Given the description of an element on the screen output the (x, y) to click on. 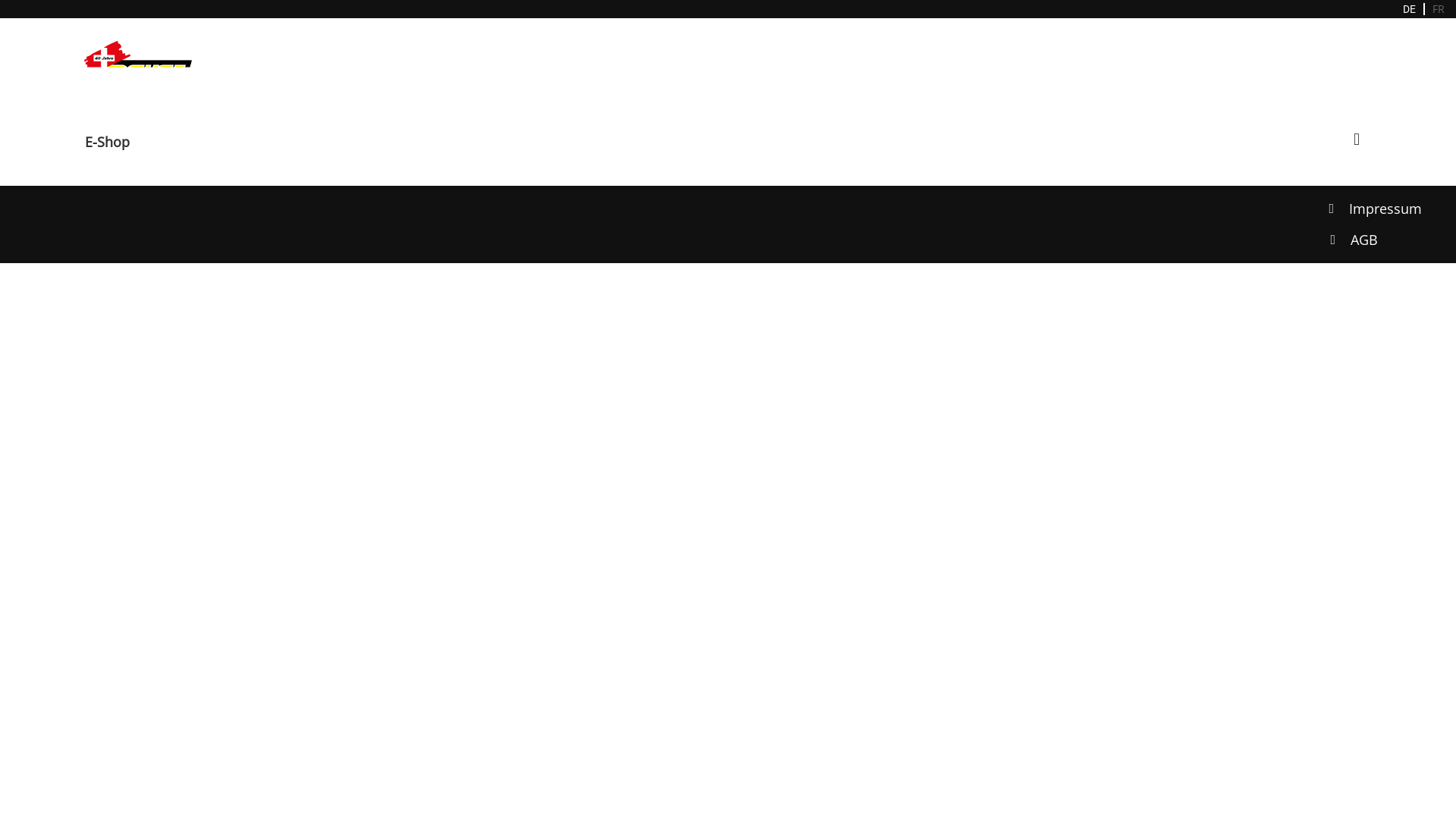
E-Shop Element type: text (107, 141)
Impressum Element type: text (1385, 208)
AGB Element type: text (1364, 239)
FR Element type: text (1438, 9)
